Given the description of an element on the screen output the (x, y) to click on. 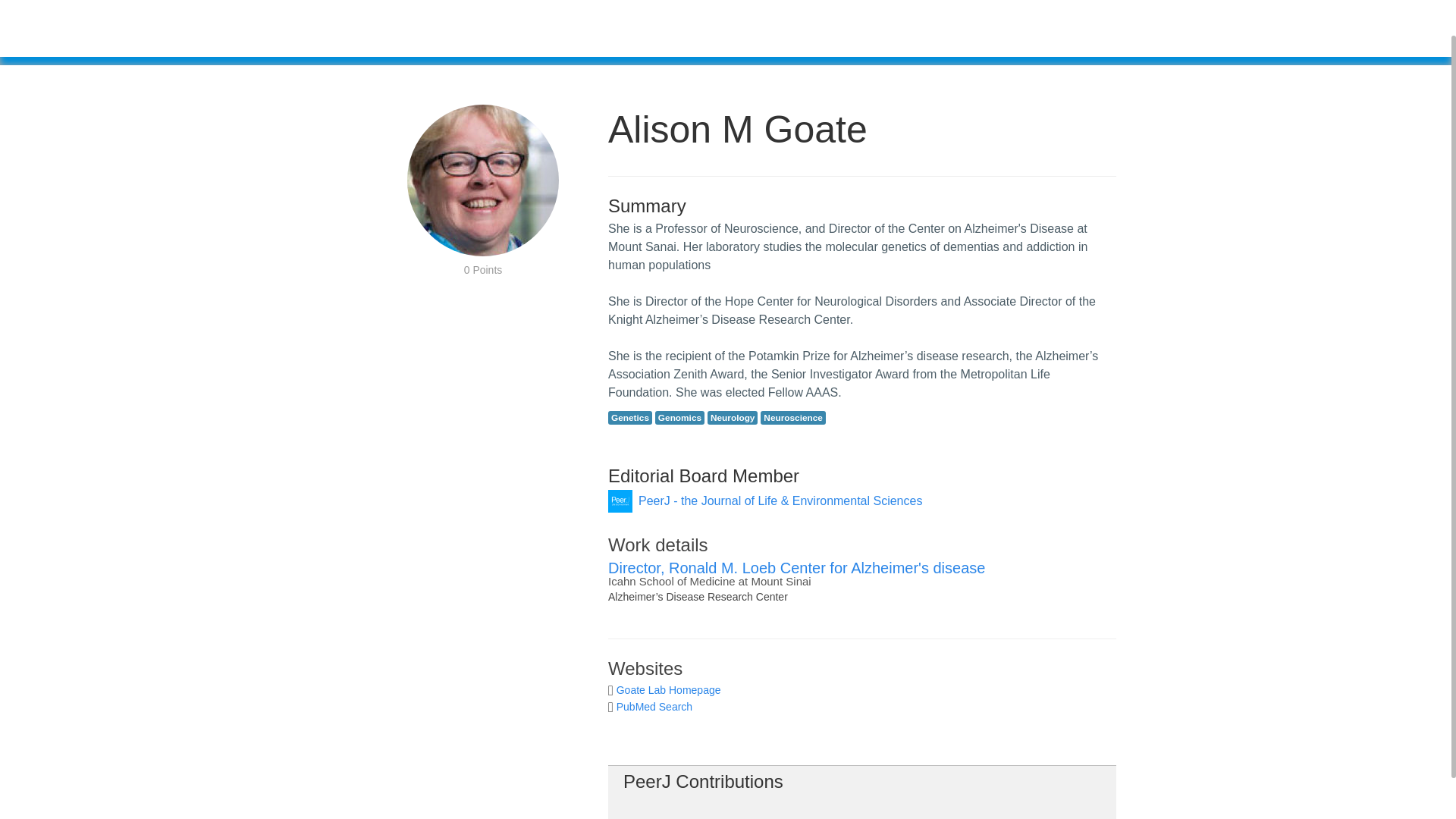
Goate Lab Homepage (667, 689)
Neurology (732, 417)
Director, Ronald M. Loeb Center for Alzheimer's disease (796, 567)
Genetics (630, 417)
PubMed Search (654, 706)
Genomics (679, 417)
PubMed Search (654, 706)
Goate Lab Homepage (667, 689)
Neuroscience (792, 417)
Or learn about other options (804, 37)
Create my FREE Plan (652, 35)
